Given the description of an element on the screen output the (x, y) to click on. 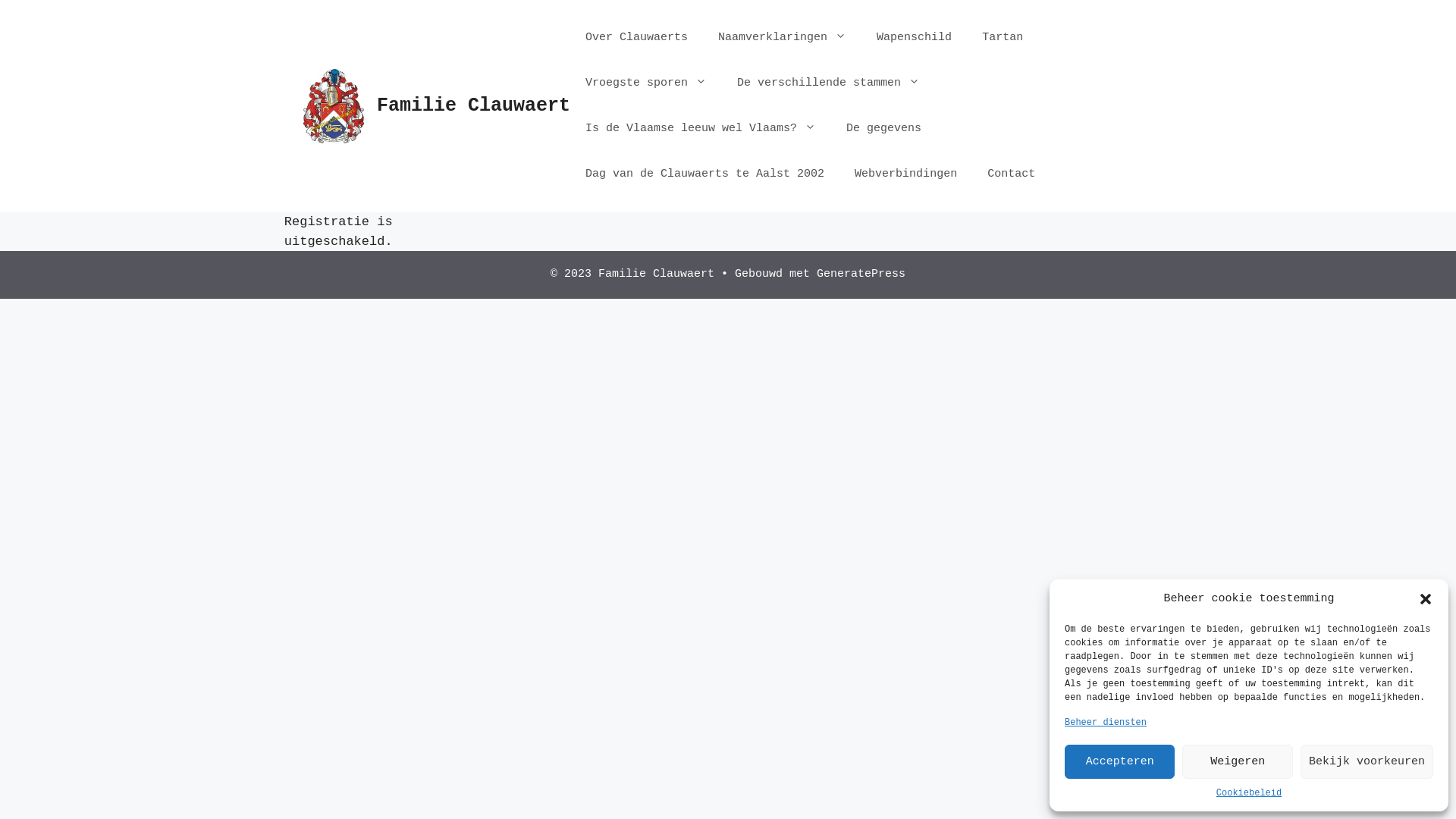
Naamverklaringen Element type: text (781, 37)
Wapenschild Element type: text (913, 37)
Webverbindingen Element type: text (905, 174)
Familie Clauwaert Element type: text (473, 105)
Weigeren Element type: text (1237, 761)
Cookiebeleid Element type: text (1248, 793)
Tartan Element type: text (1002, 37)
De verschillende stammen Element type: text (828, 83)
GeneratePress Element type: text (860, 273)
Vroegste sporen Element type: text (645, 83)
Bekijk voorkeuren Element type: text (1366, 761)
Accepteren Element type: text (1119, 761)
Over Clauwaerts Element type: text (636, 37)
De gegevens Element type: text (883, 128)
Contact Element type: text (1011, 174)
Beheer diensten Element type: text (1105, 722)
Dag van de Clauwaerts te Aalst 2002 Element type: text (704, 174)
Is de Vlaamse leeuw wel Vlaams? Element type: text (700, 128)
